Given the description of an element on the screen output the (x, y) to click on. 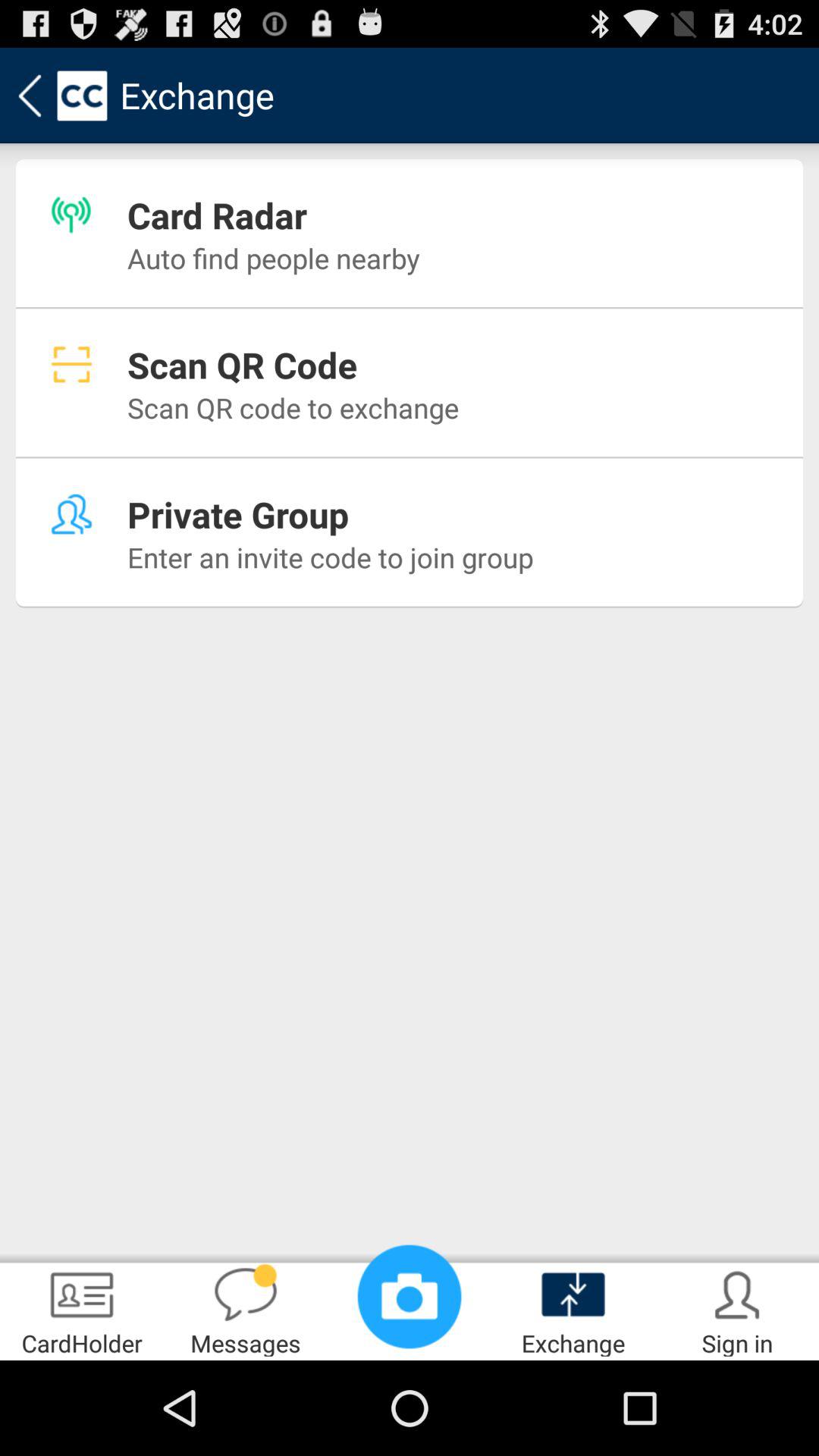
open icon next to the exchange item (737, 1309)
